Given the description of an element on the screen output the (x, y) to click on. 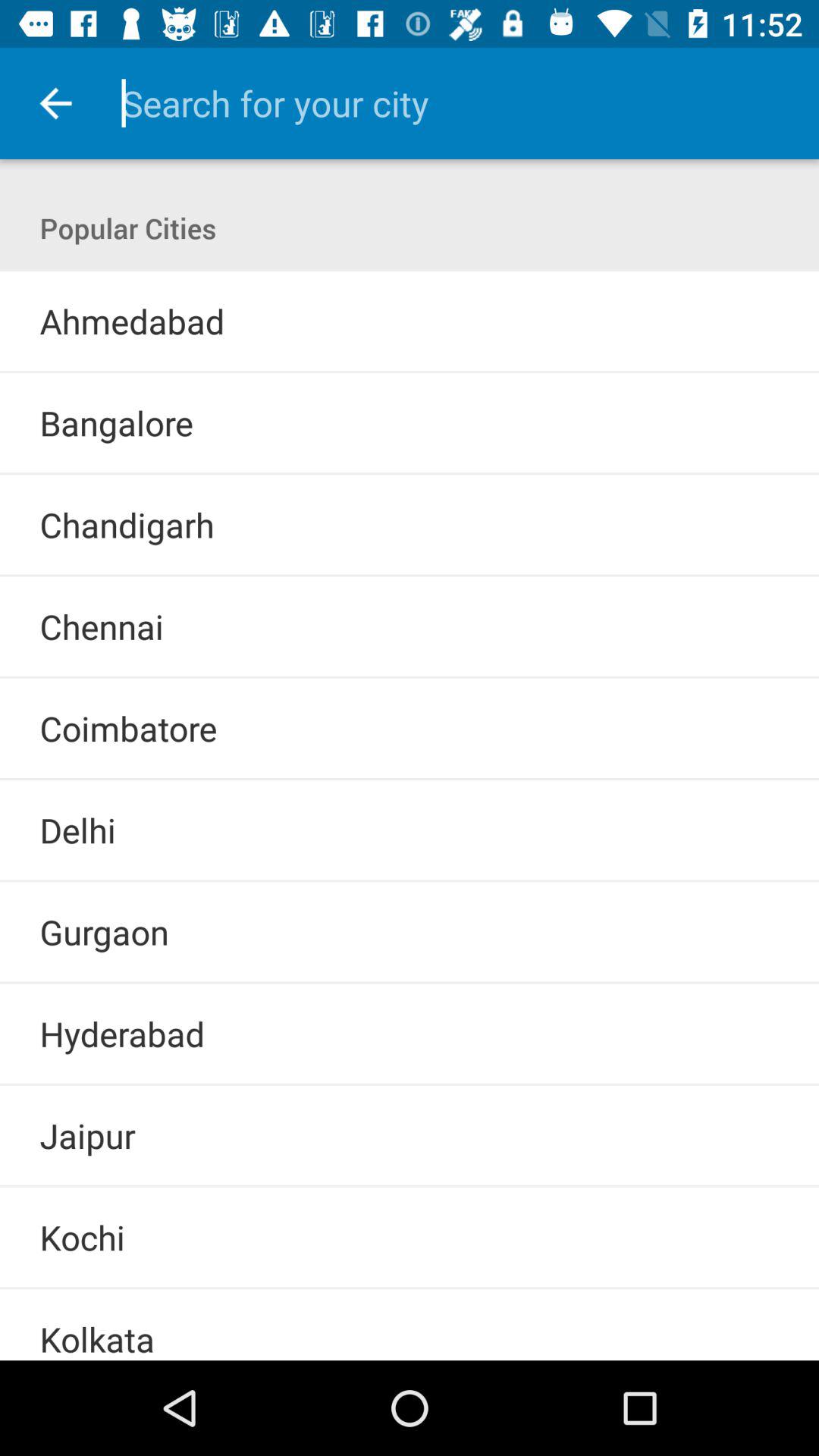
turn off item above the ahmedabad item (409, 270)
